Given the description of an element on the screen output the (x, y) to click on. 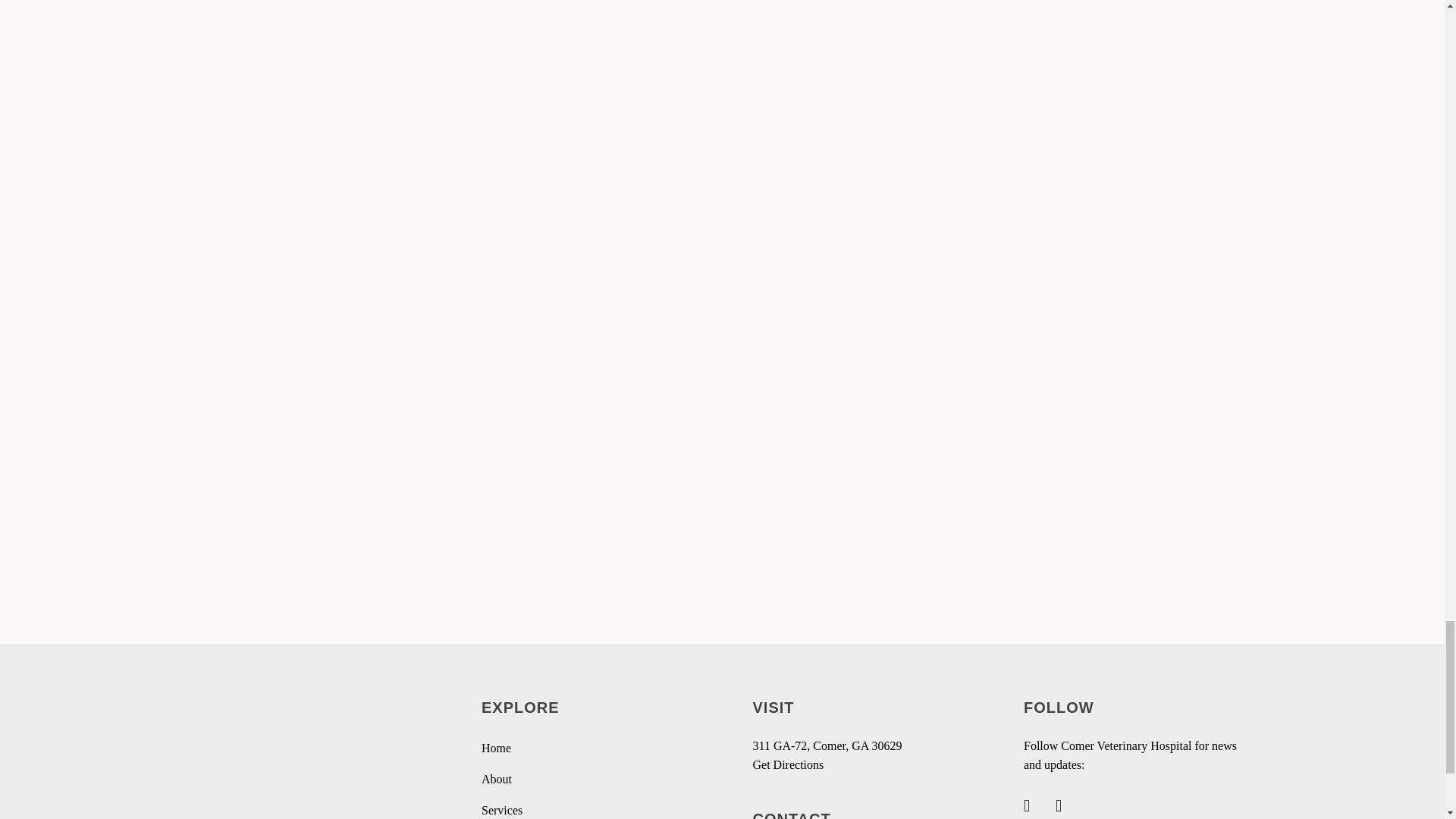
Services (501, 810)
Get Directions (788, 764)
Home (496, 748)
About (496, 779)
